Given the description of an element on the screen output the (x, y) to click on. 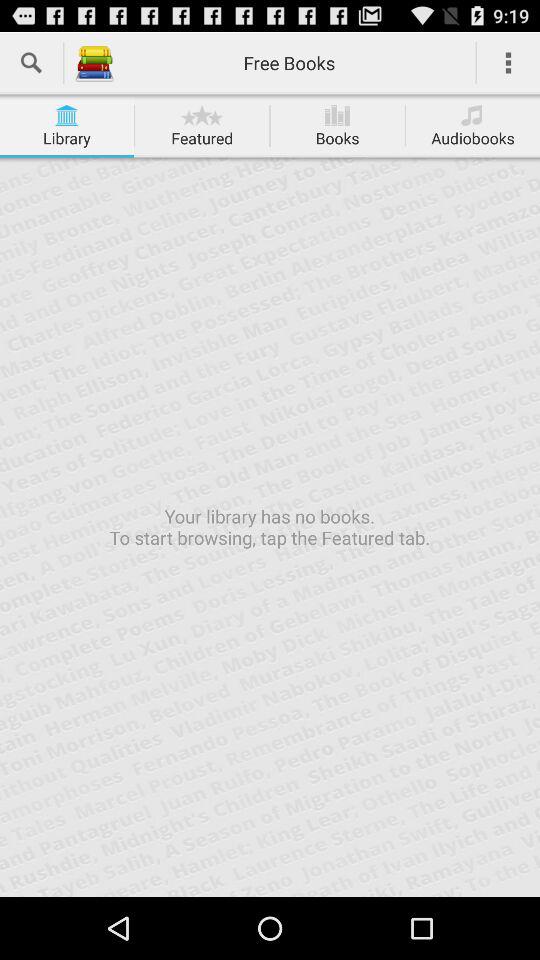
click on music button above audiobooks (472, 114)
click on button which is above library (66, 114)
click on more options icon which is at top right corner (508, 63)
select the star icon on the tab featured on the web page (201, 114)
